Given the description of an element on the screen output the (x, y) to click on. 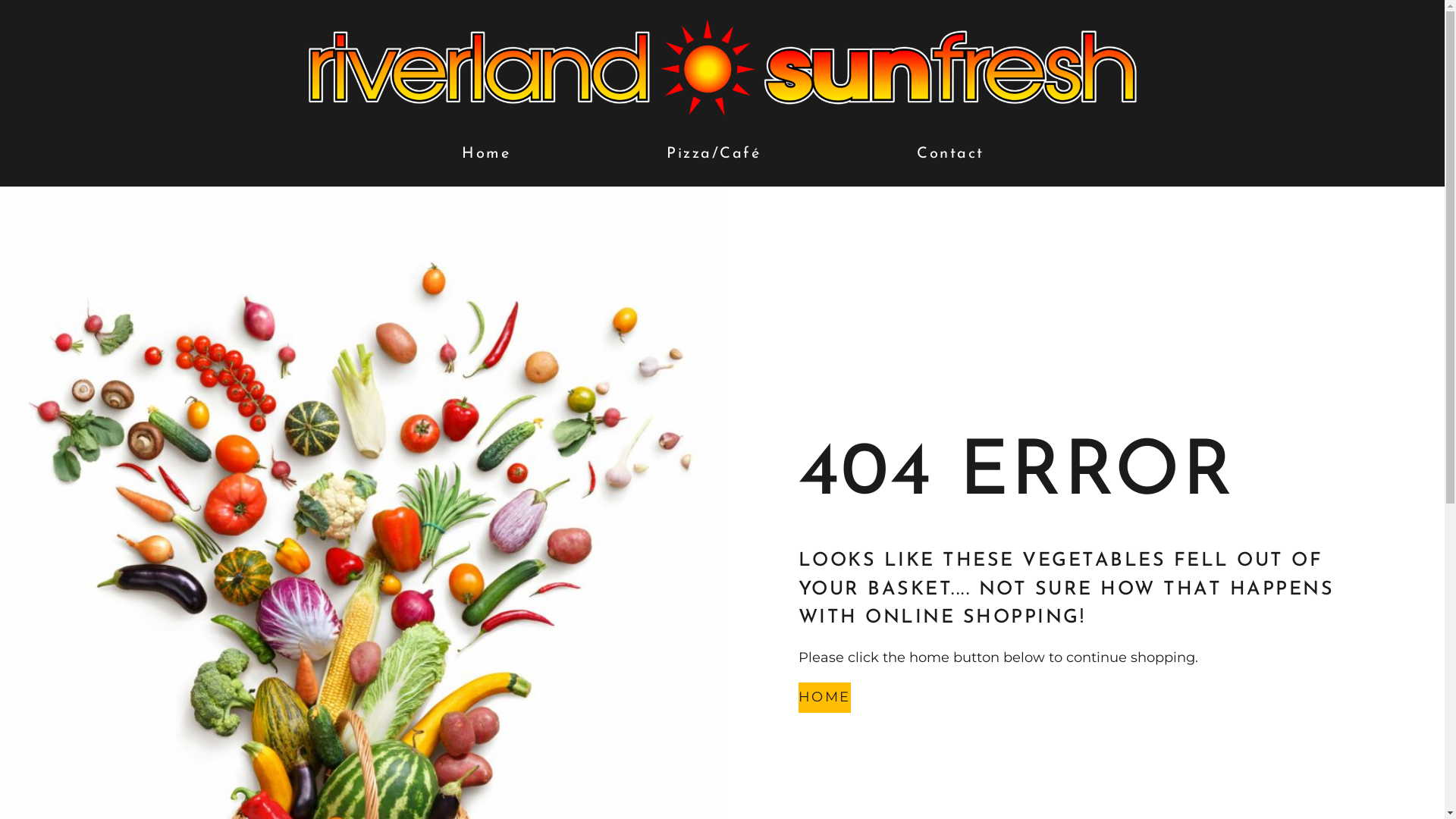
Home Element type: text (485, 153)
HOME Element type: text (823, 697)
Contact Element type: text (950, 153)
